Given the description of an element on the screen output the (x, y) to click on. 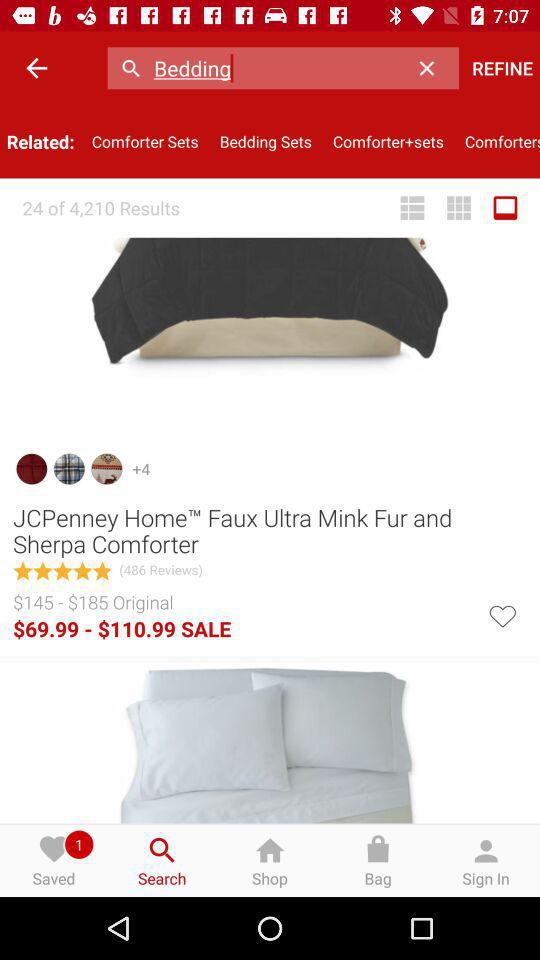
like product (501, 614)
